Given the description of an element on the screen output the (x, y) to click on. 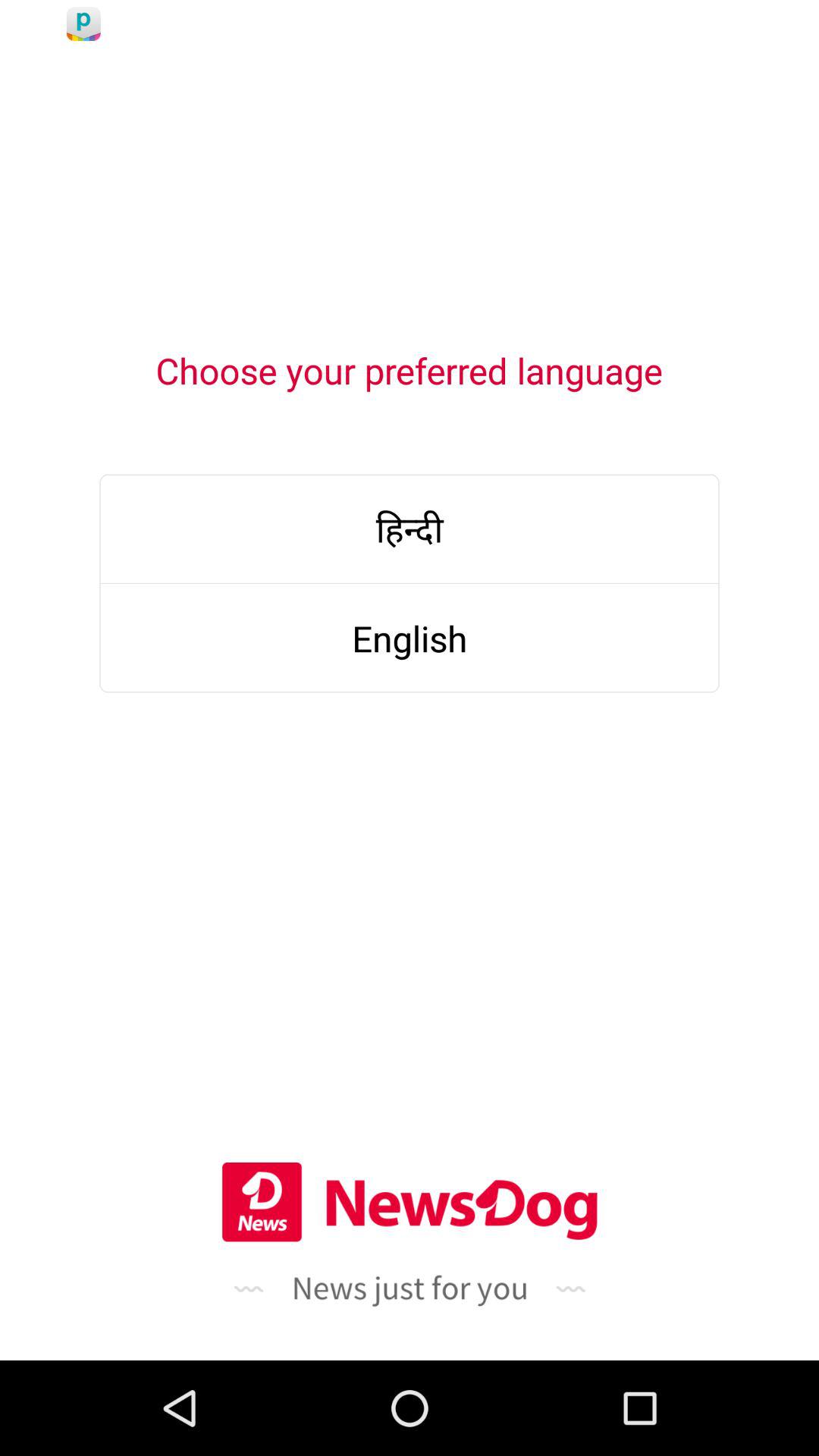
scroll until english (409, 638)
